Given the description of an element on the screen output the (x, y) to click on. 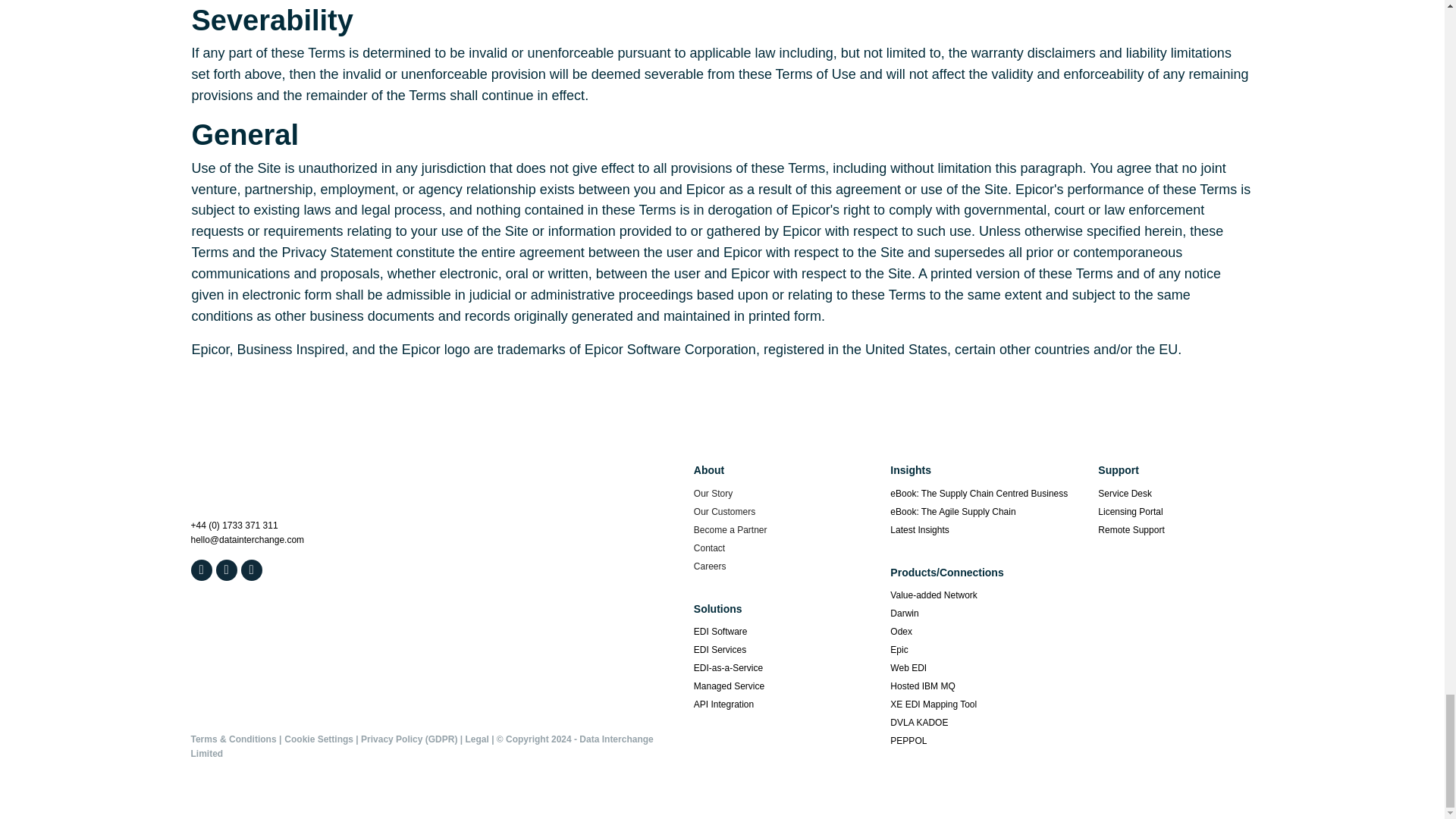
iso27001 (234, 659)
iso9001 (331, 660)
corp-datainterchange-logo-teal (266, 484)
